Given the description of an element on the screen output the (x, y) to click on. 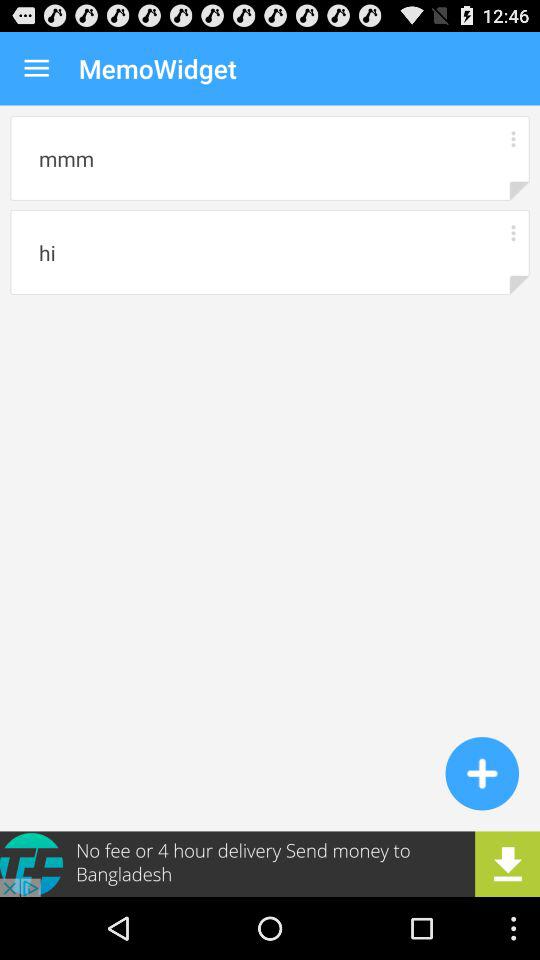
toggle options (512, 232)
